Given the description of an element on the screen output the (x, y) to click on. 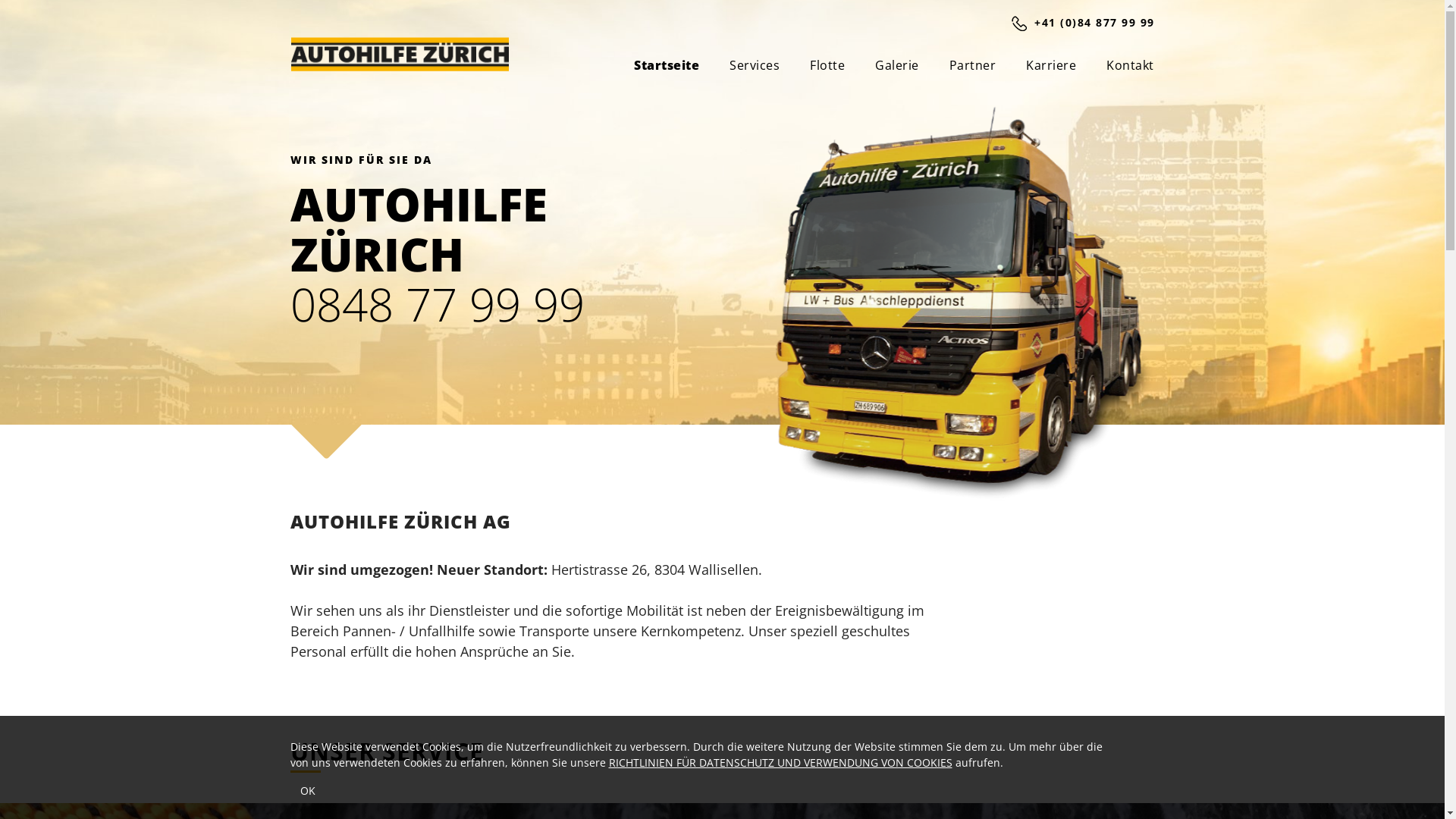
Kontakt Element type: text (1130, 61)
Partner Element type: text (972, 61)
Services Element type: text (754, 61)
Karriere Element type: text (1051, 61)
Galerie Element type: text (897, 61)
OK Element type: text (306, 790)
Flotte Element type: text (826, 61)
Startseite Element type: text (666, 61)
